Given the description of an element on the screen output the (x, y) to click on. 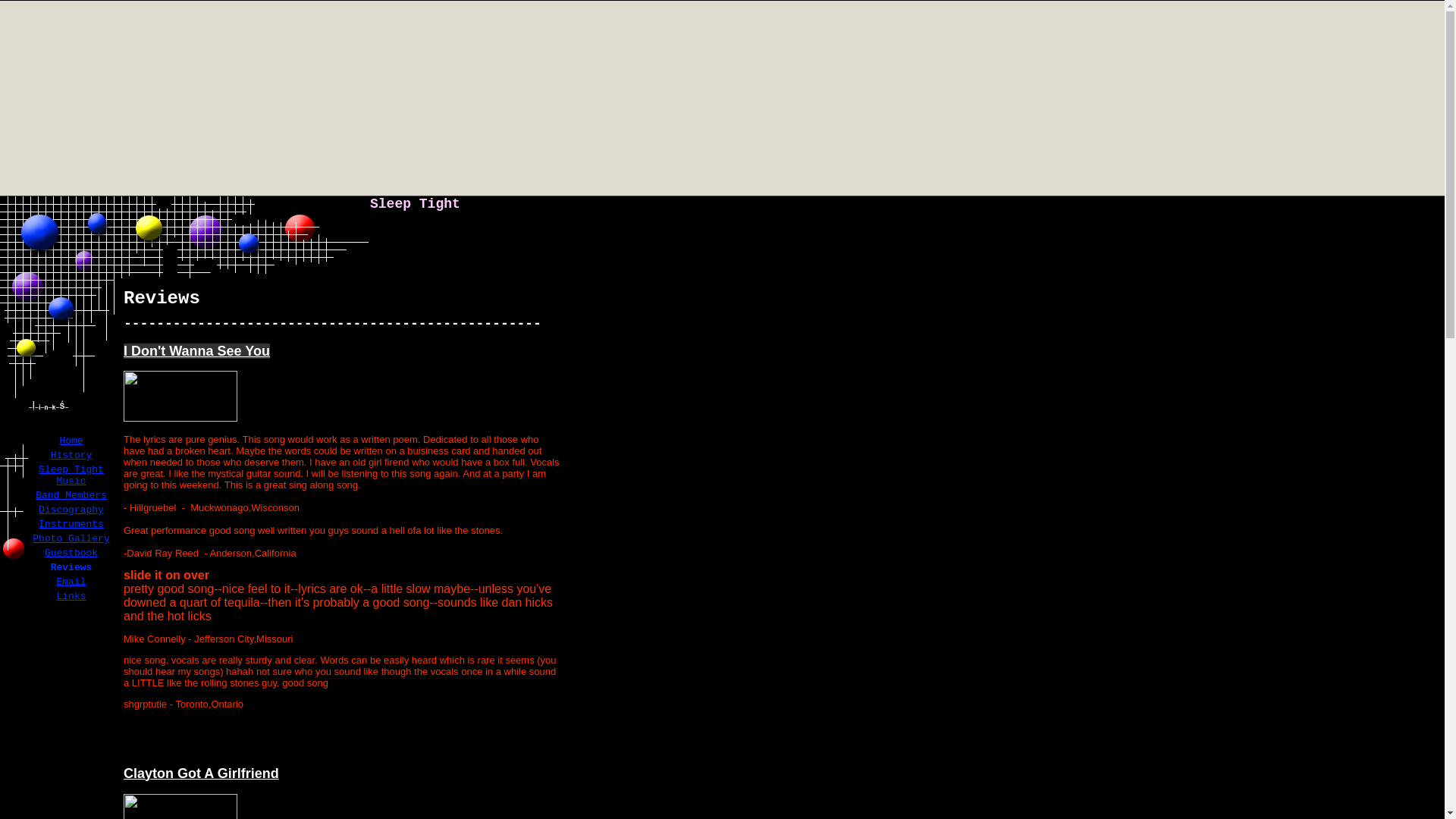
Sleep Tight Music (71, 475)
Home (70, 440)
Email (70, 582)
Reviews (71, 567)
History (71, 455)
Instruments (71, 523)
Discography (71, 509)
Links (70, 595)
Guestbook (71, 552)
Photo Gallery (70, 538)
Band Members (70, 495)
